Given the description of an element on the screen output the (x, y) to click on. 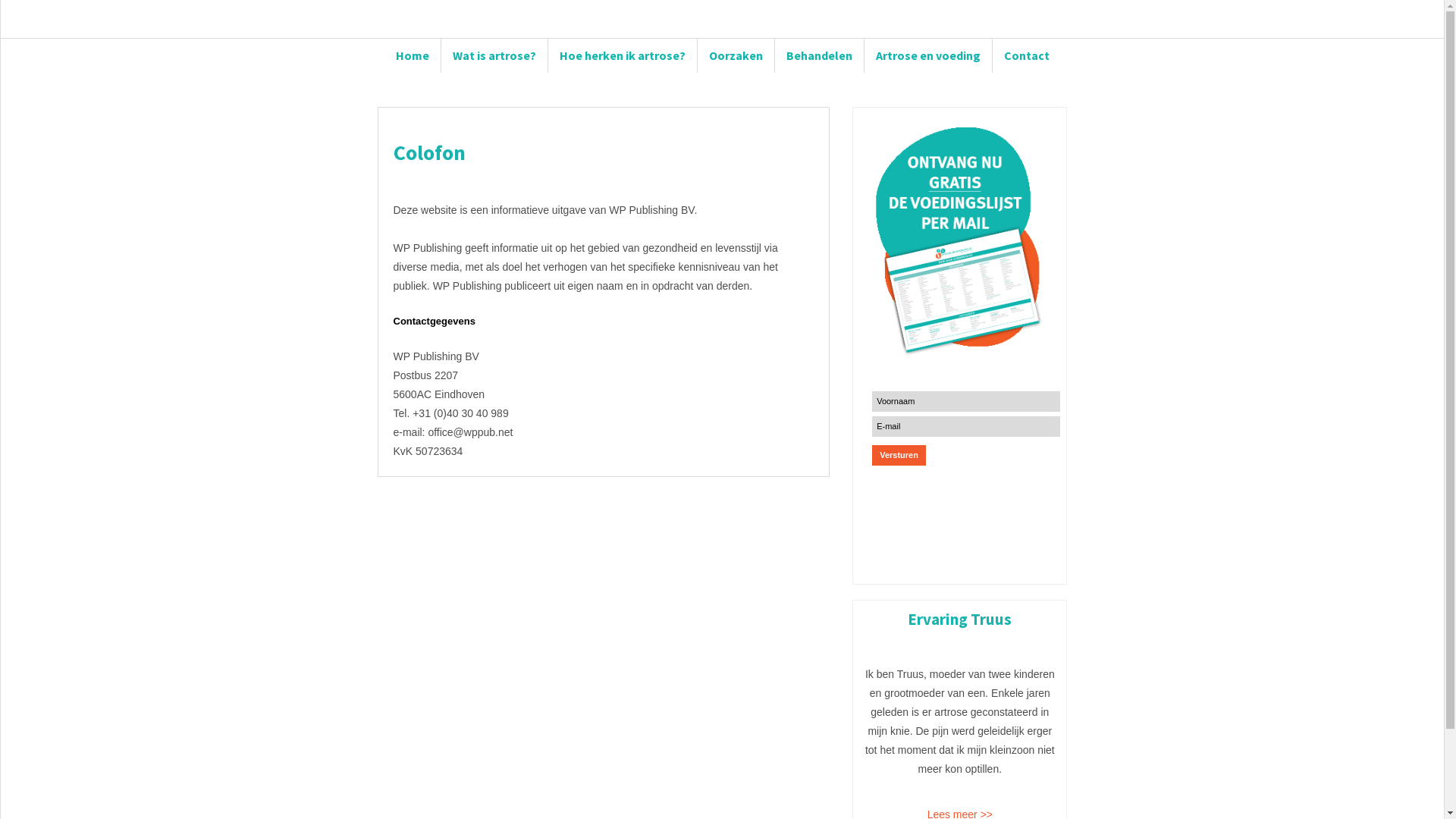
Versturen Element type: text (898, 455)
Contact Element type: text (1025, 55)
Hoe herken ik artrose? Element type: text (621, 55)
Artrose en voeding Element type: text (927, 55)
Wat is artrose? Element type: text (494, 55)
Home Element type: text (411, 55)
Behandelen Element type: text (819, 55)
Oorzaken Element type: text (735, 55)
